Given the description of an element on the screen output the (x, y) to click on. 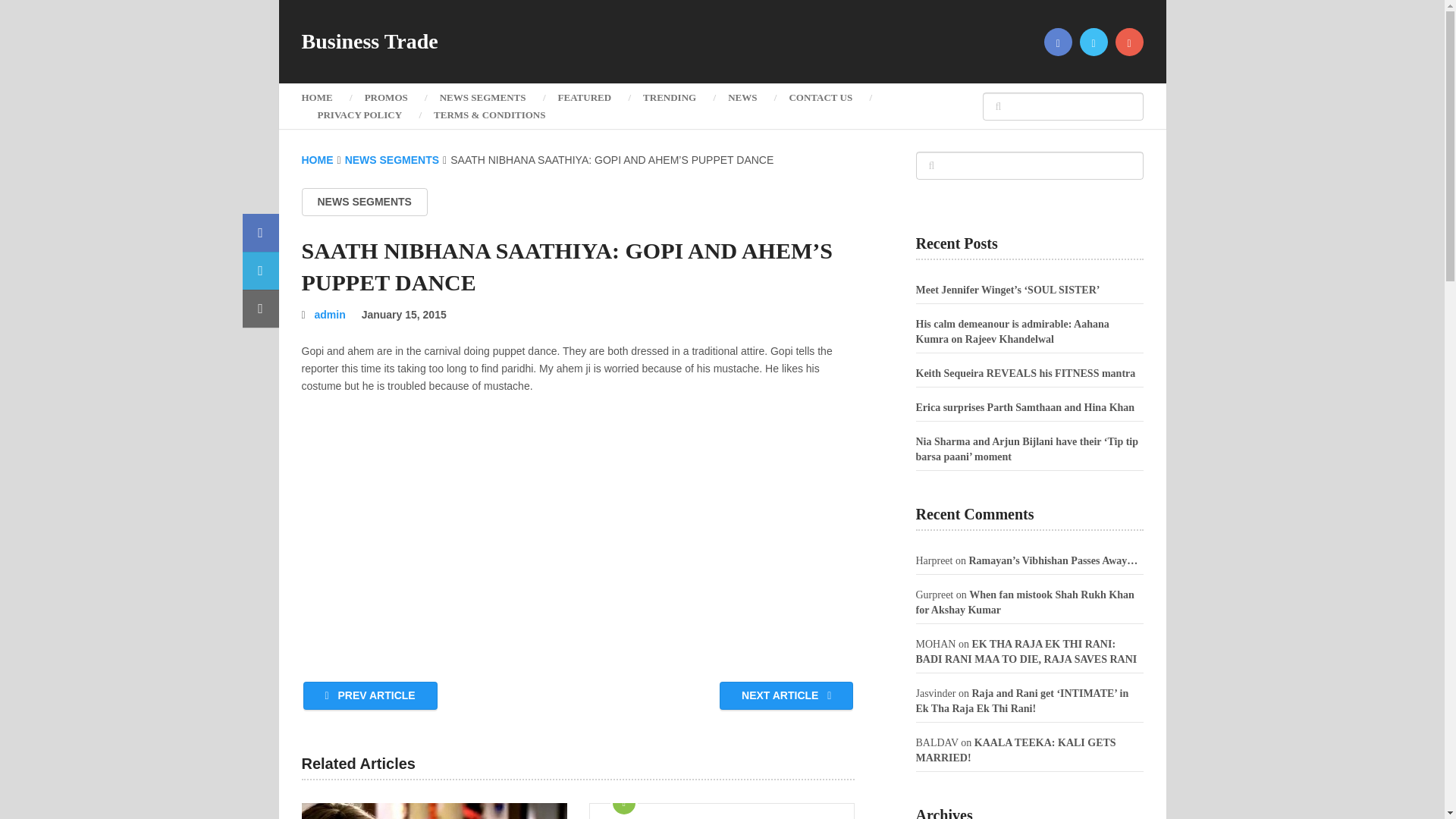
PROMOS (386, 97)
Posts by admin (330, 314)
NEWS (742, 97)
KAALA TEEKA: KALI GETS MARRIED! (1015, 750)
admin (330, 314)
NEWS SEGMENTS (364, 202)
Keith Sequeira REVEALS his FITNESS mantra (1025, 373)
HOME (325, 97)
When fan mistook Shah Rukh Khan for Akshay Kumar (1024, 601)
